Given the description of an element on the screen output the (x, y) to click on. 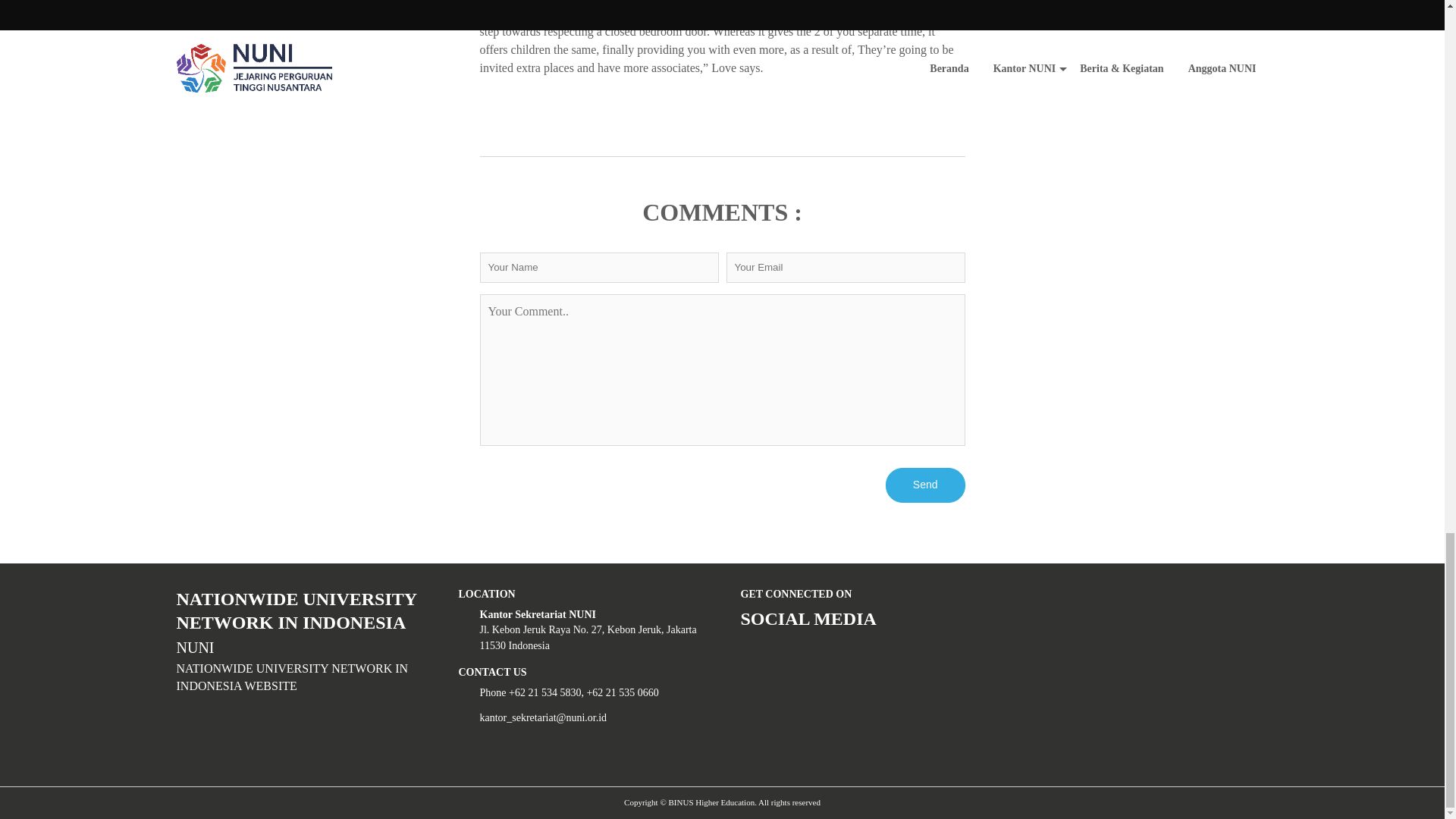
Send (925, 484)
Send (925, 484)
